Given the description of an element on the screen output the (x, y) to click on. 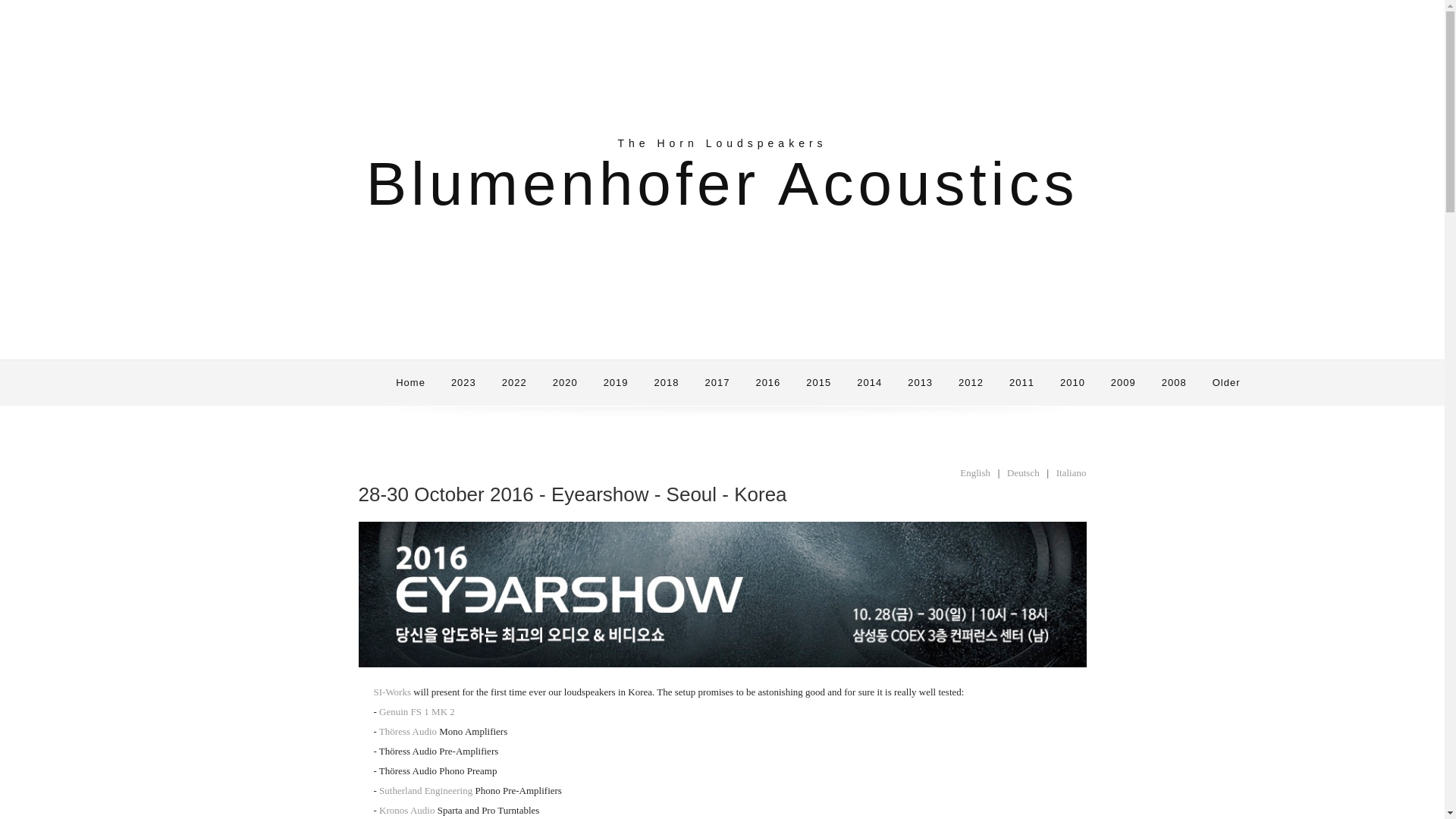
2015 (818, 383)
Kronos Audio (405, 809)
2019 (616, 383)
2014 (869, 383)
2022 (514, 383)
Deutsch (1023, 472)
2011 (1021, 383)
Home (410, 383)
2023 (463, 383)
English (974, 472)
